Given the description of an element on the screen output the (x, y) to click on. 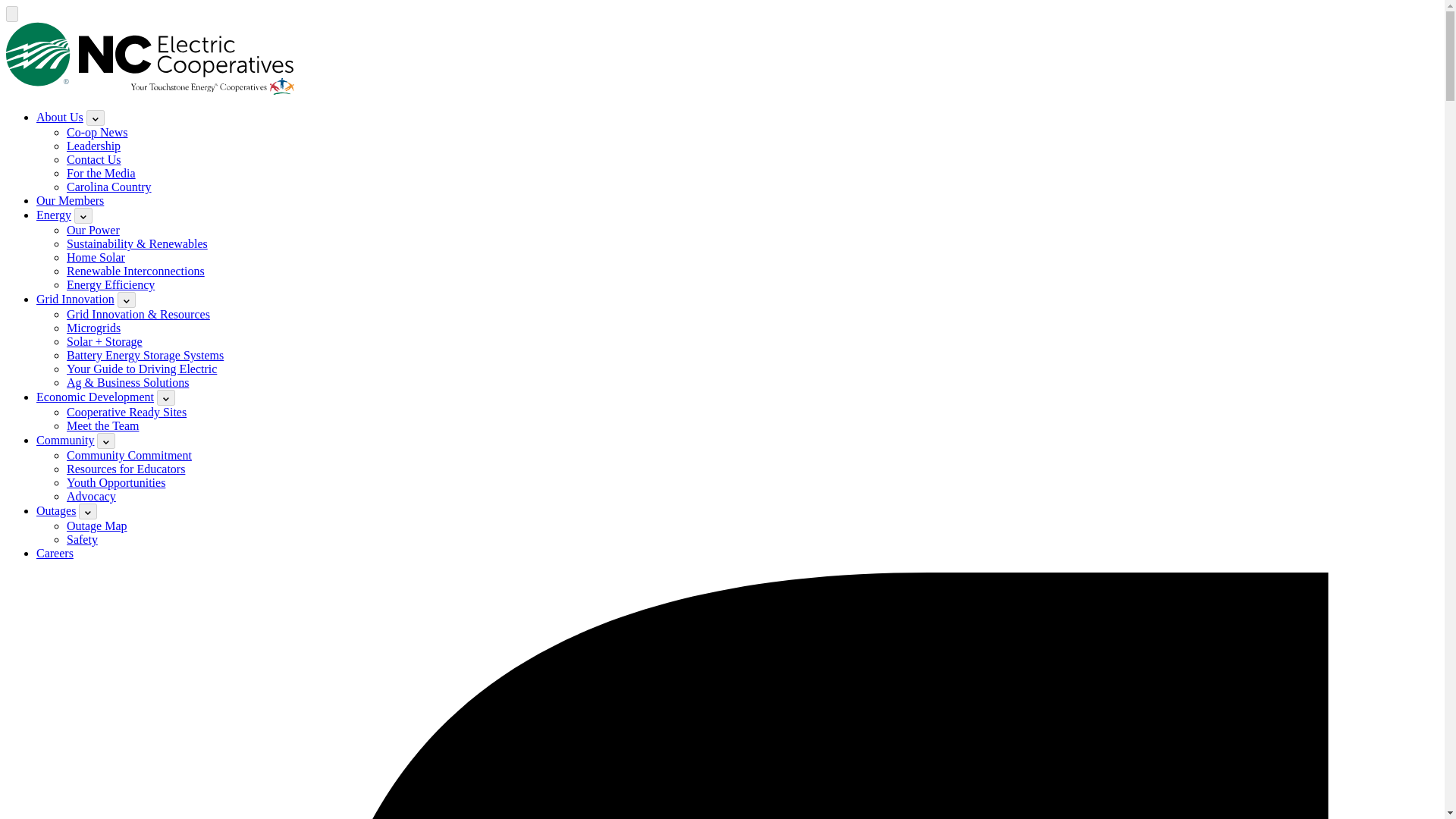
For the Media (100, 173)
Community (65, 440)
Contact Us (93, 159)
Your Guide to Driving Electric (141, 368)
Renewable Interconnections (135, 270)
Safety (81, 539)
Our Power (92, 229)
Microgrids (93, 327)
Resources for Educators (125, 468)
Our Members (69, 200)
